Given the description of an element on the screen output the (x, y) to click on. 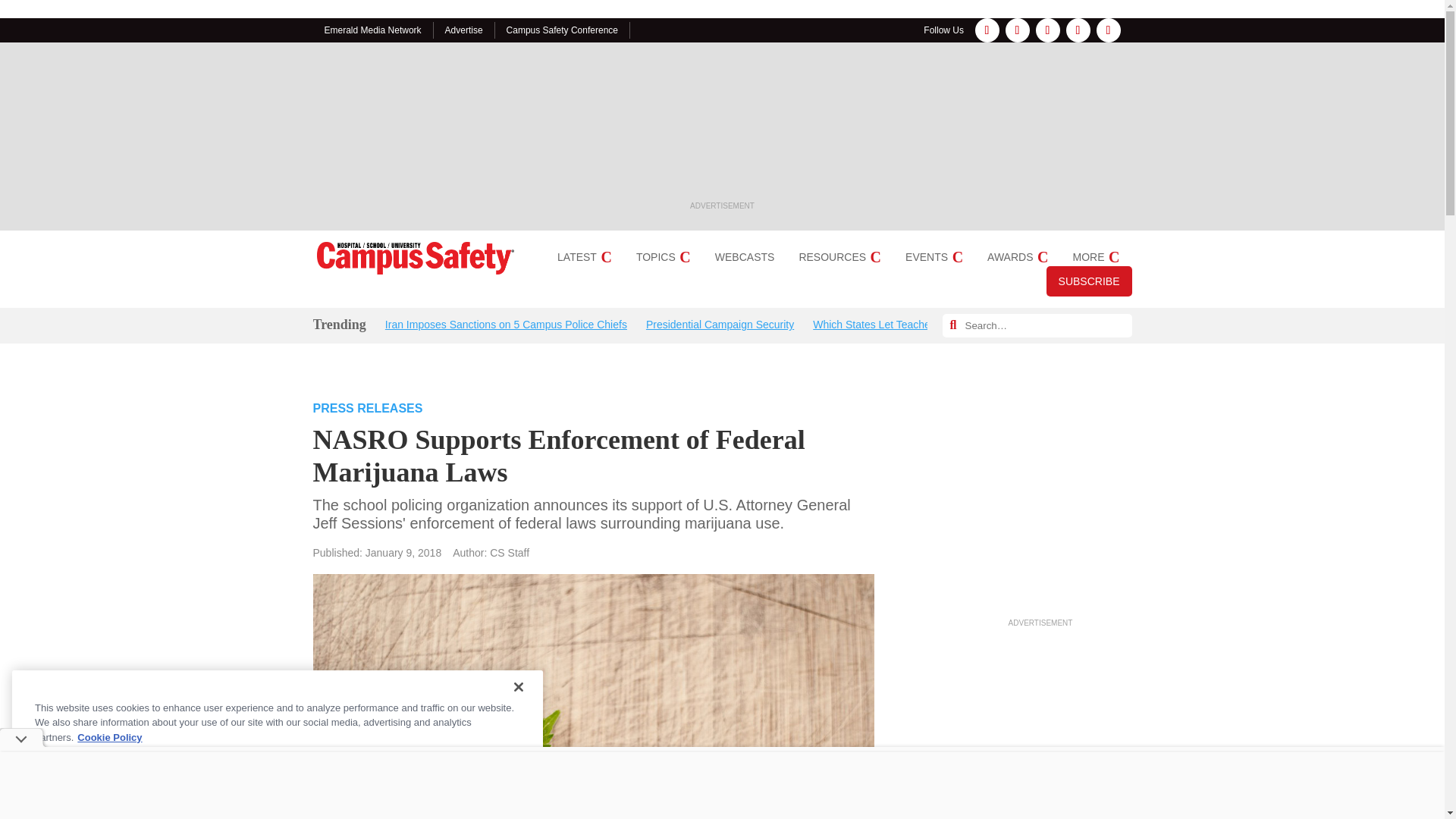
Follow on LinkedIn (1047, 30)
Emerald Media Network (373, 30)
TOPICS (663, 256)
Follow on Instagram (1017, 30)
Campus Safety Conference (561, 30)
Advertise (464, 30)
Follow on X (1077, 30)
Follow on Facebook (986, 30)
Follow on Youtube (1108, 30)
LATEST (584, 256)
3rd party ad content (722, 127)
